Given the description of an element on the screen output the (x, y) to click on. 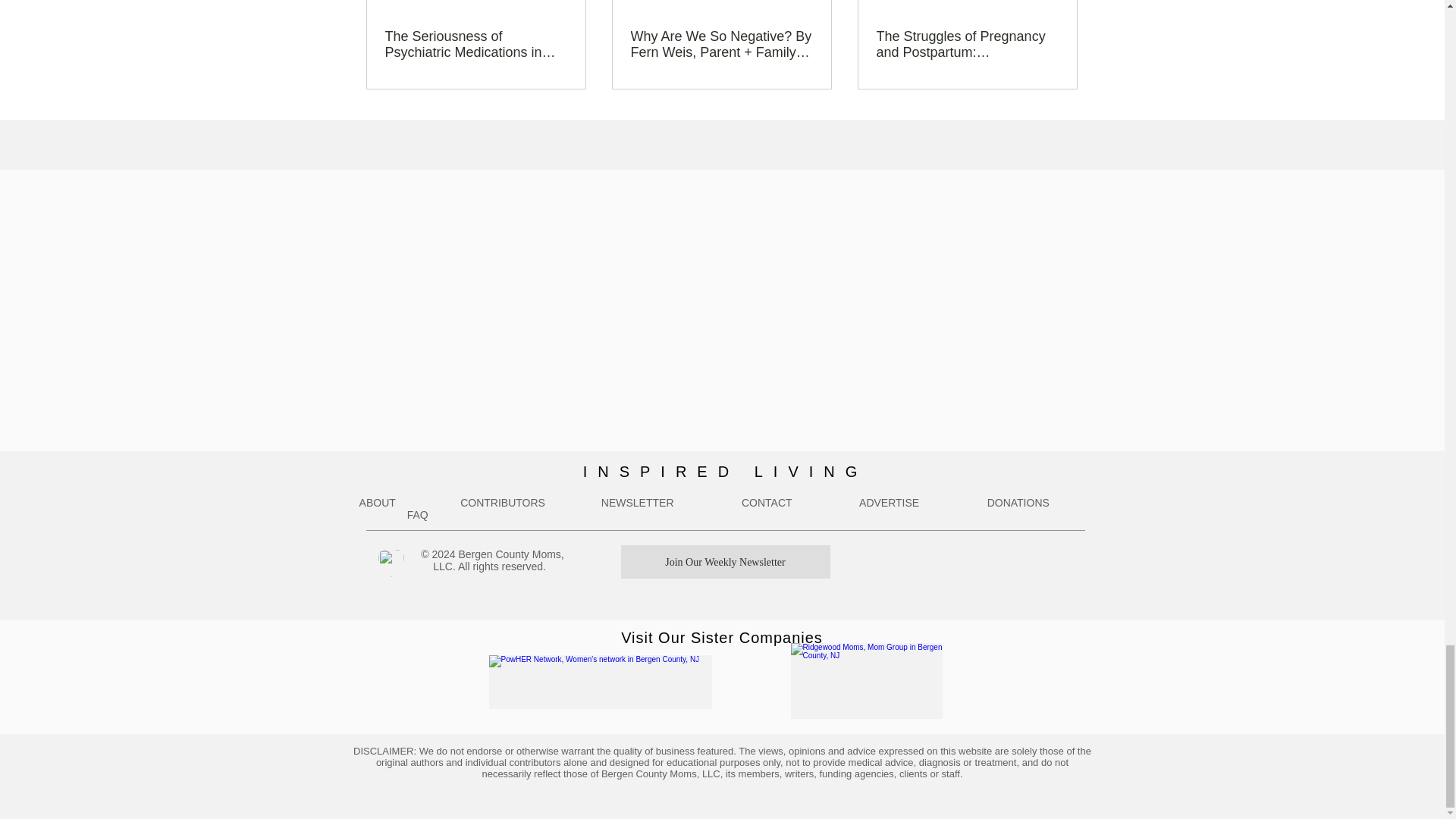
Ridgewood Moms, Mom Group in Bergen County, NJ (866, 680)
PowHER Network, Women's network in Bergen County, N (599, 682)
